Given the description of an element on the screen output the (x, y) to click on. 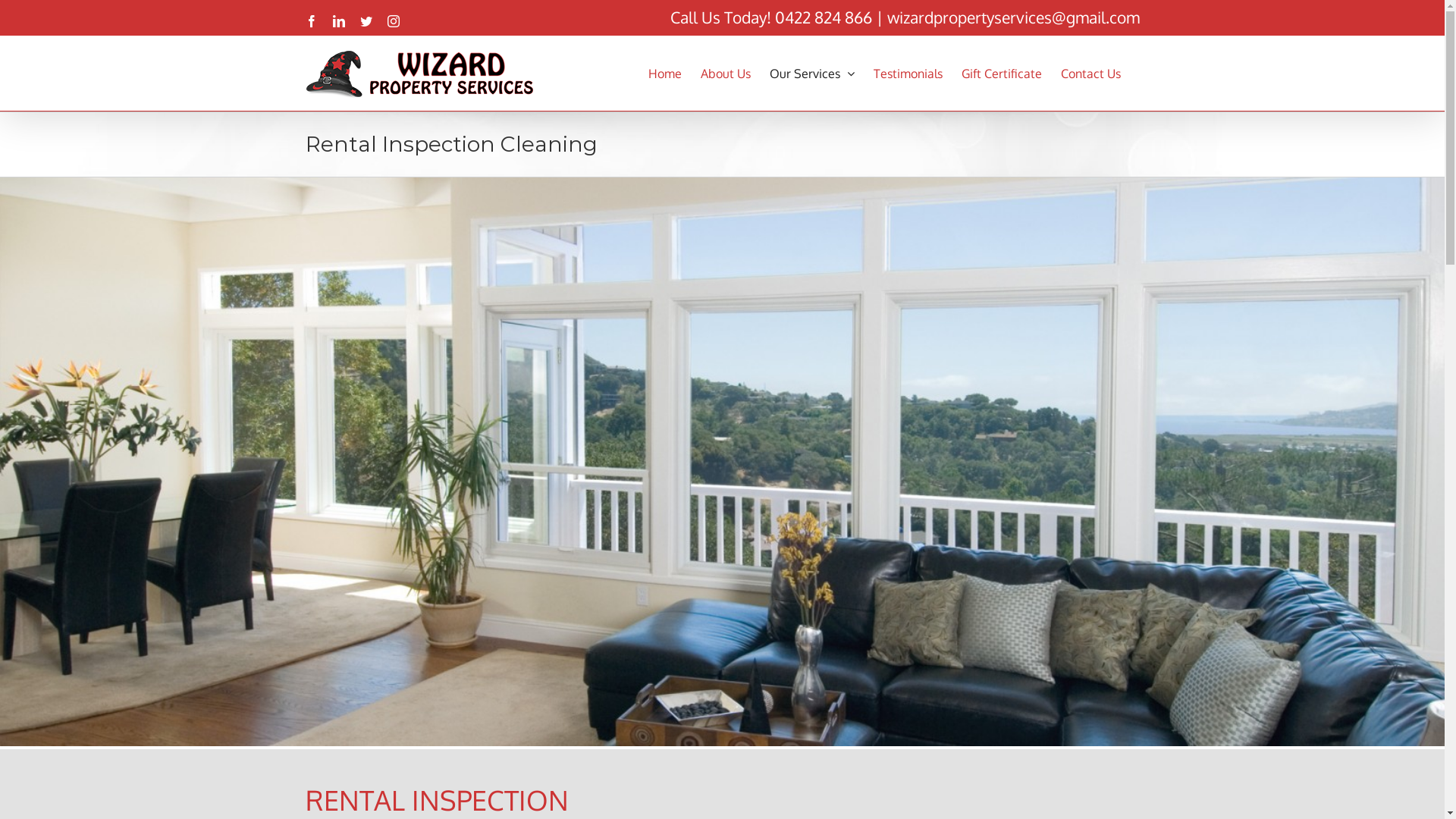
Gift Certificate Element type: text (1001, 72)
Testimonials Element type: text (907, 72)
Instagram Element type: text (392, 21)
About Us Element type: text (725, 72)
Contact Us Element type: text (1090, 72)
0422 824 866 Element type: text (823, 16)
Twitter Element type: text (365, 21)
Facebook Element type: text (310, 21)
wizardpropertyservices@gmail.com Element type: text (1013, 16)
Our Services Element type: text (810, 72)
Home Element type: text (663, 72)
LinkedIn Element type: text (338, 21)
